Given the description of an element on the screen output the (x, y) to click on. 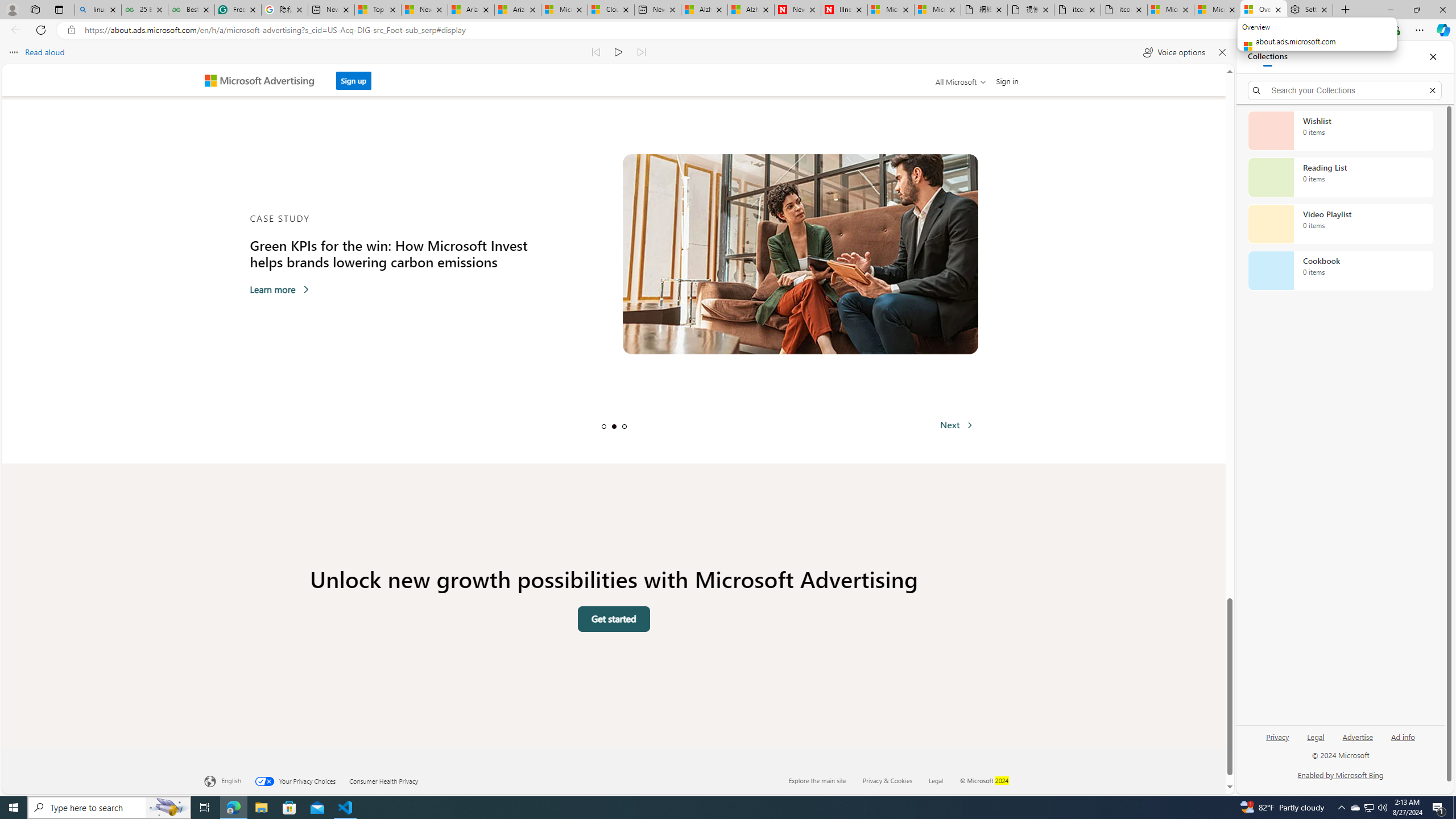
Explore the main site (824, 780)
